Given the description of an element on the screen output the (x, y) to click on. 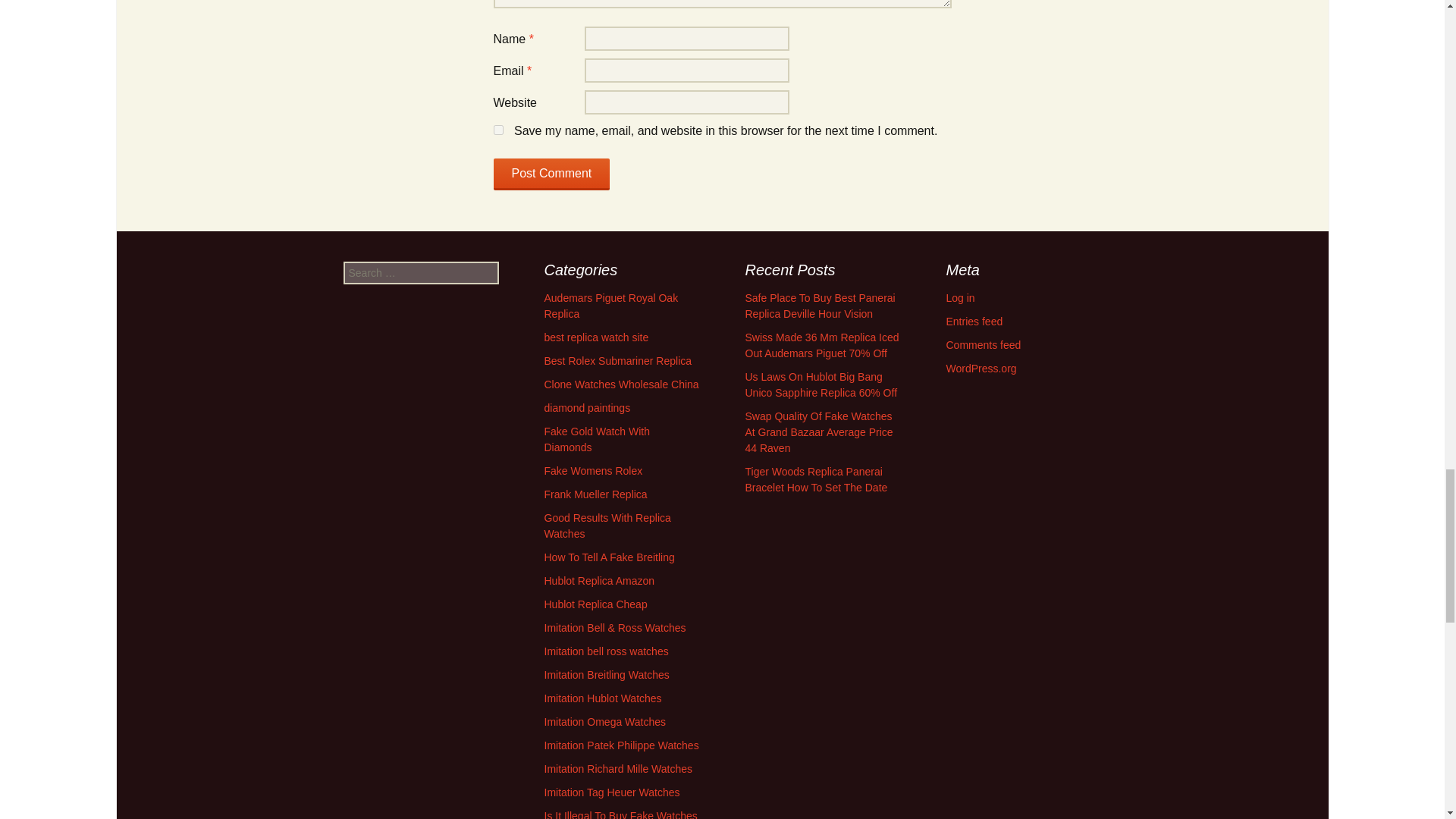
Hublot Replica Amazon (599, 580)
Imitation Omega Watches (605, 721)
Imitation Breitling Watches (606, 674)
diamond paintings (587, 408)
Best Rolex Submariner Replica (618, 360)
Imitation Richard Mille Watches (618, 768)
Audemars Piguet Royal Oak Replica (611, 305)
Frank Mueller Replica (595, 494)
Clone Watches Wholesale China (621, 384)
best replica watch site (596, 337)
